Given the description of an element on the screen output the (x, y) to click on. 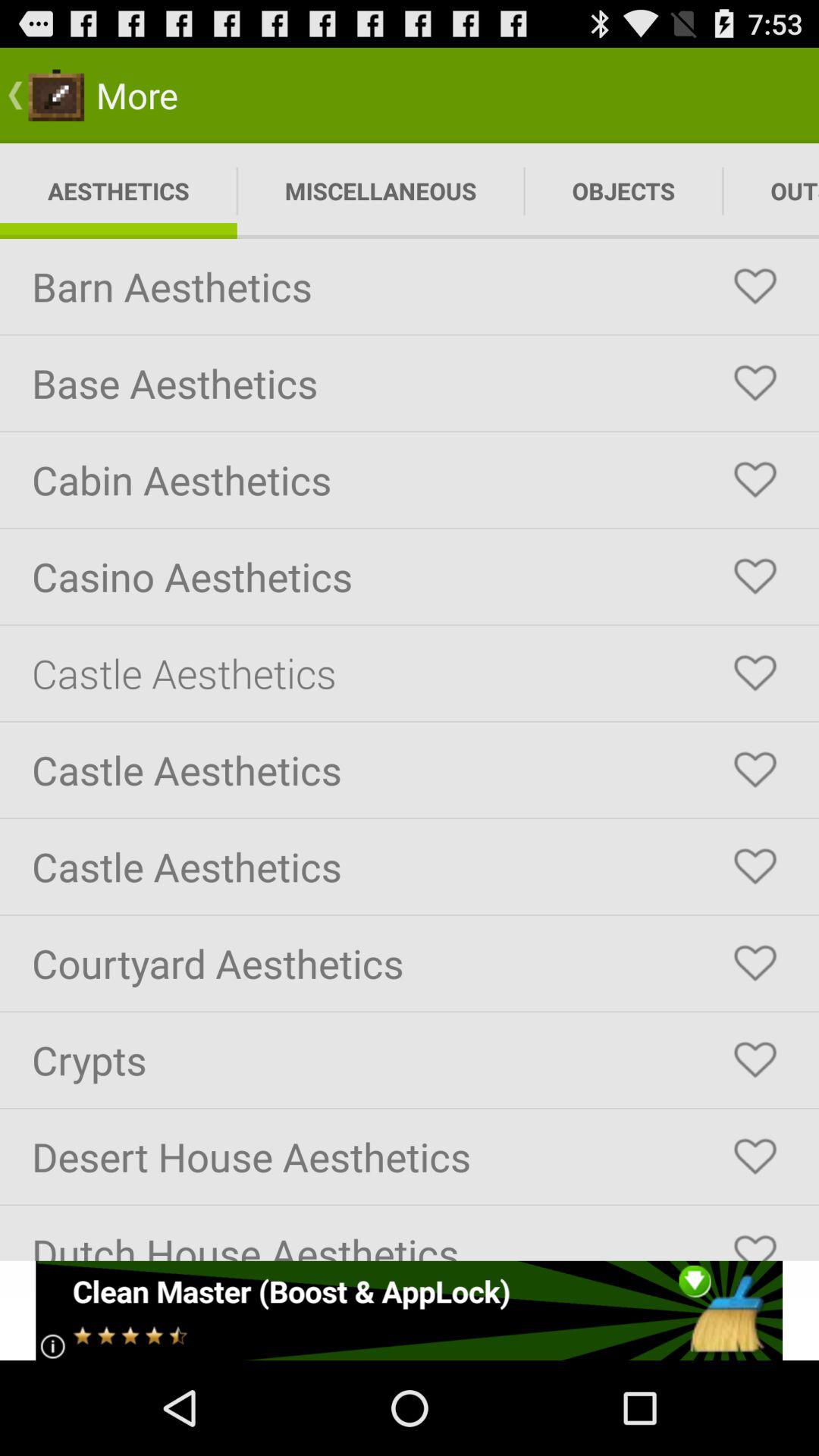
click on the heart symbol which is right side to the courtyard aesthetics (755, 963)
click on icon right to barn aesthetics (755, 286)
select the fifth  love icon from the last (755, 866)
click the button right to the casino aesthetics (755, 576)
select the heart symbol right to base aesthetics (755, 383)
click on the heart symbol on the right side of  castle aesthetics (755, 673)
